Given the description of an element on the screen output the (x, y) to click on. 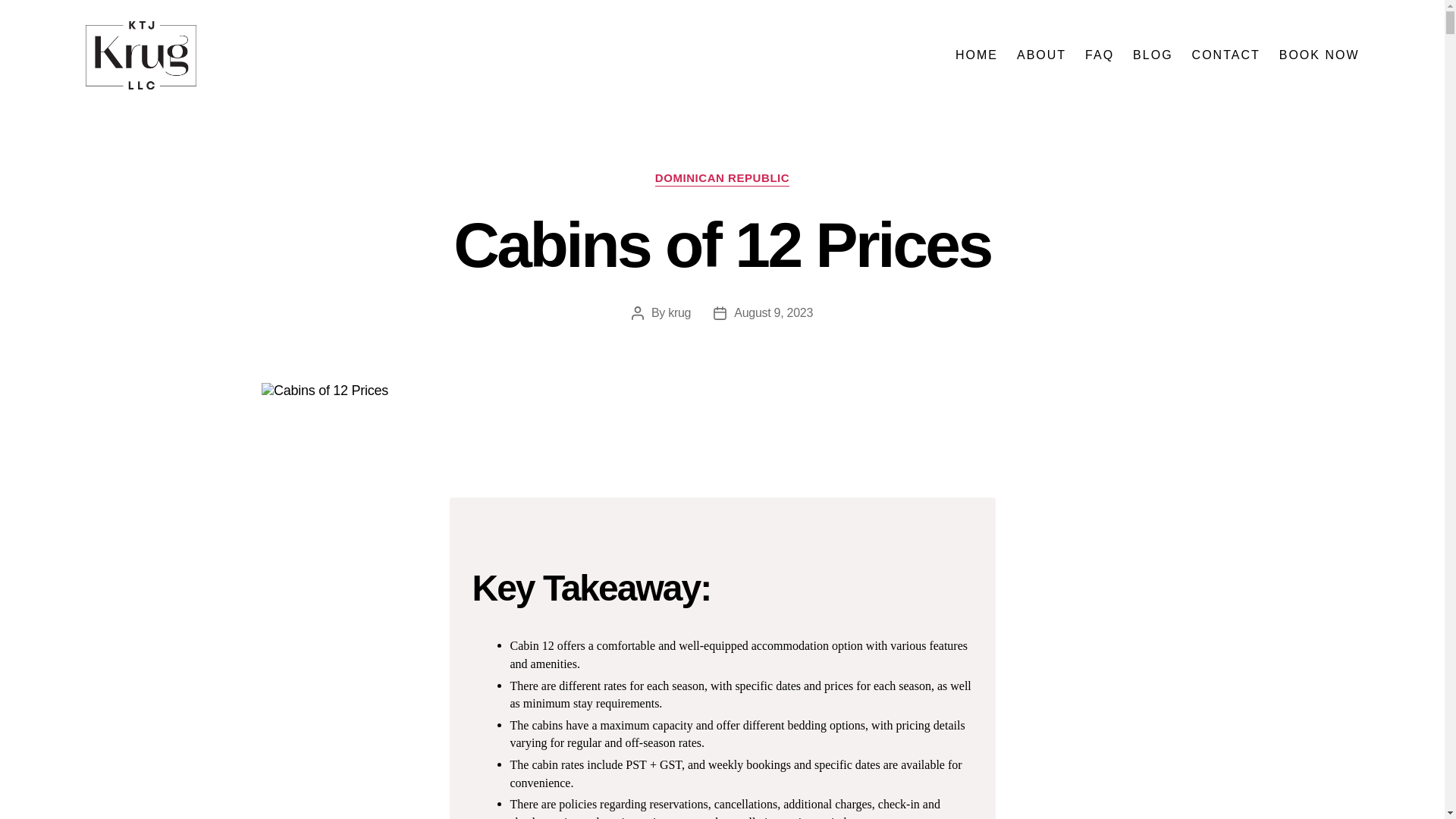
HOME (976, 54)
ABOUT (1040, 54)
BOOK NOW (1319, 54)
DOMINICAN REPUBLIC (722, 178)
krug (679, 312)
Cabins of 12 Prices (717, 390)
FAQ (1098, 54)
August 9, 2023 (772, 312)
CONTACT (1226, 54)
BLOG (1152, 54)
